Given the description of an element on the screen output the (x, y) to click on. 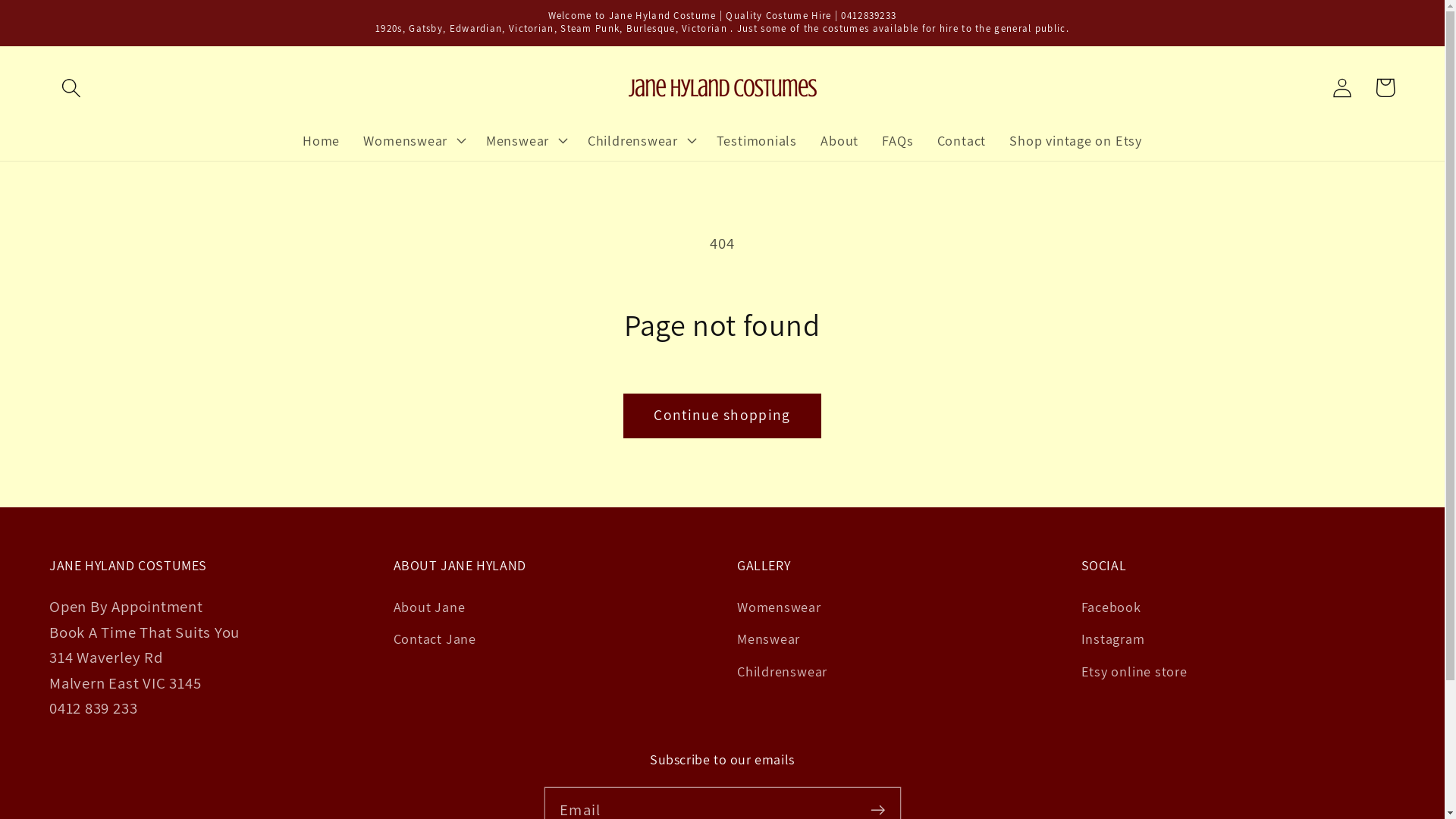
Womenswear Element type: text (405, 139)
Home Element type: text (321, 139)
About Jane Element type: text (428, 609)
Continue shopping Element type: text (721, 415)
Contact Element type: text (961, 139)
Log in Element type: text (1341, 87)
Etsy online store Element type: text (1134, 671)
FAQs Element type: text (897, 139)
Facebook Element type: text (1111, 609)
Menswear Element type: text (517, 139)
Contact Jane Element type: text (433, 639)
Shop vintage on Etsy Element type: text (1075, 139)
Womenswear Element type: text (779, 609)
Childrenswear Element type: text (632, 139)
Childrenswear Element type: text (782, 671)
Testimonials Element type: text (756, 139)
About Element type: text (839, 139)
Menswear Element type: text (768, 639)
Cart Element type: text (1384, 87)
Instagram Element type: text (1113, 639)
